Given the description of an element on the screen output the (x, y) to click on. 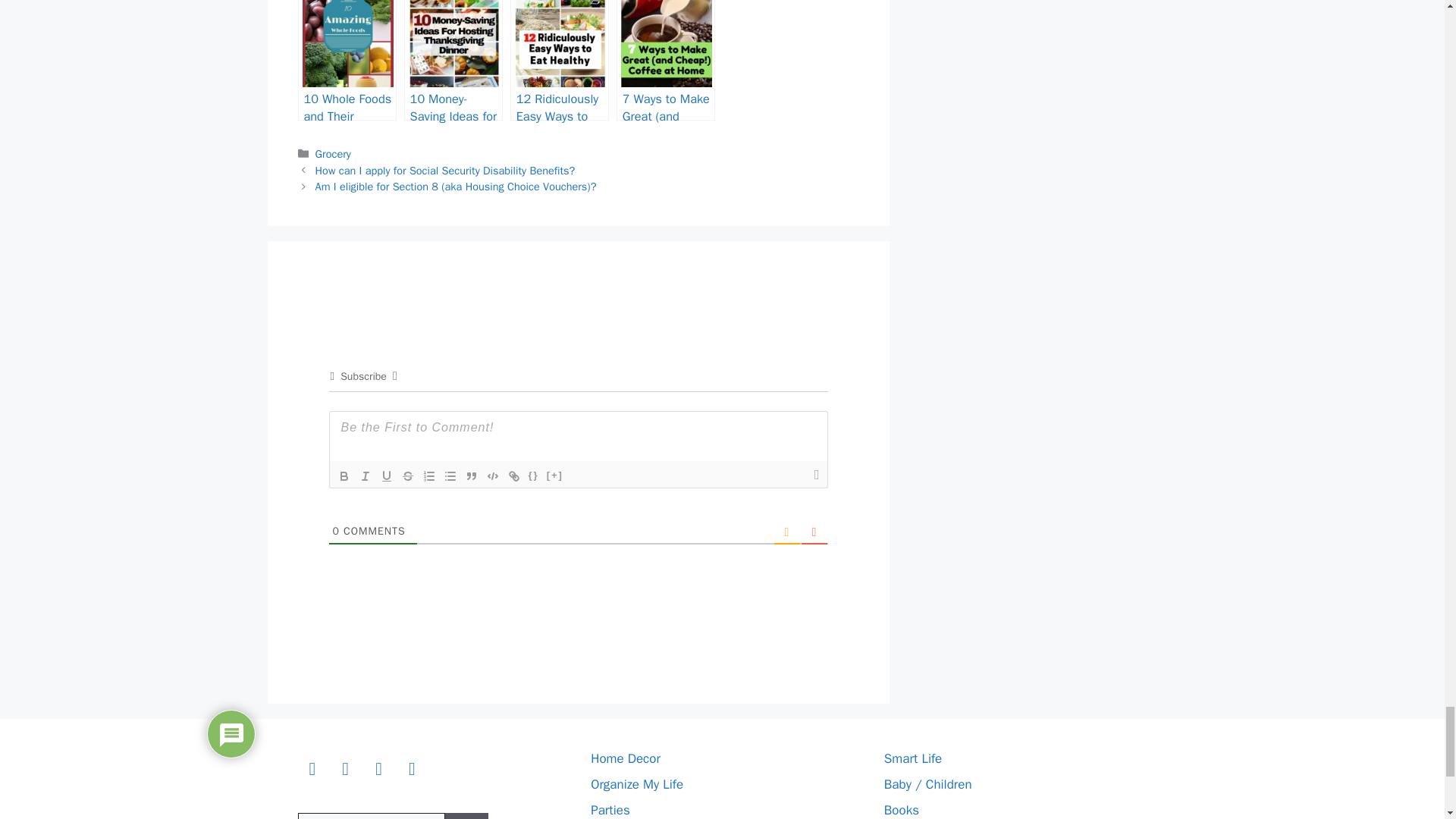
10 Money-Saving Ideas for Hosting Thanksgiving Dinner (453, 60)
12 Ridiculously Easy Ways to Eat Healthy (559, 60)
Bold (344, 475)
Strike (408, 475)
10 Whole Foods and Their Amazing Benefits (346, 60)
Ordered List (429, 475)
Italic (365, 475)
Underline (386, 475)
